Given the description of an element on the screen output the (x, y) to click on. 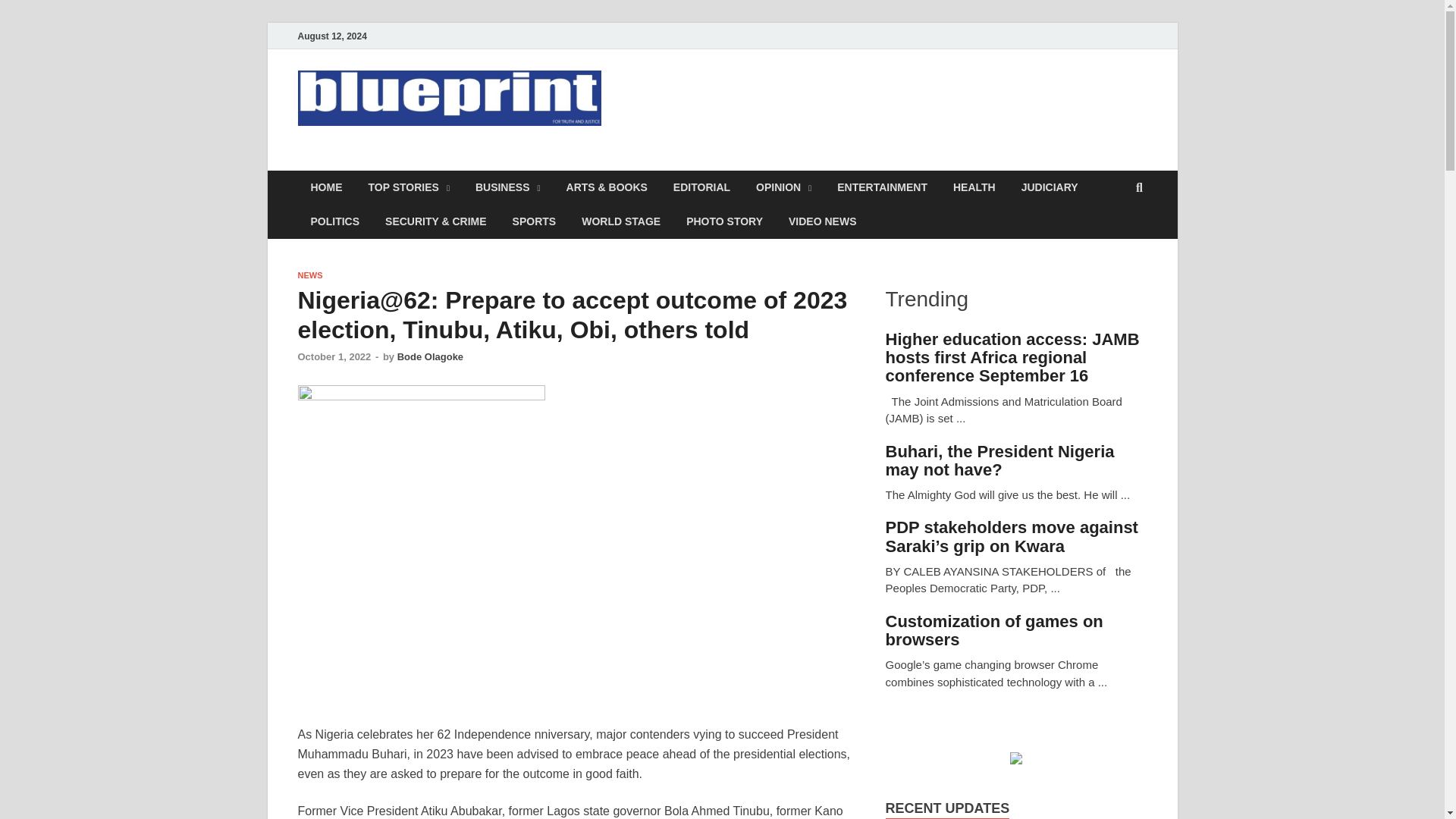
EDITORIAL (701, 187)
Blueprint Newspapers Limited (504, 161)
HOME (326, 187)
TOP STORIES (408, 187)
BUSINESS (508, 187)
ENTERTAINMENT (882, 187)
OPINION (783, 187)
